Given the description of an element on the screen output the (x, y) to click on. 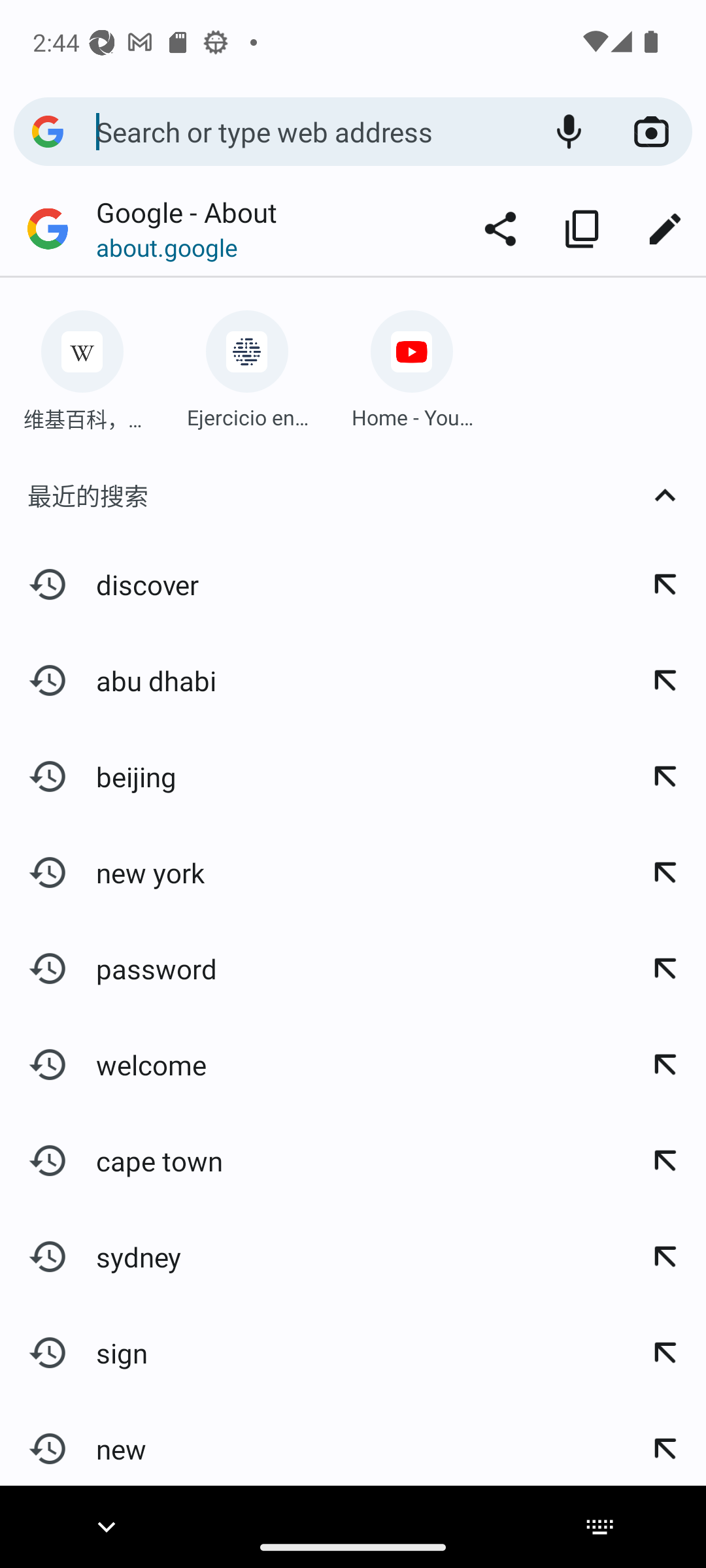
Start voice search (568, 131)
Search with your camera using Google Lens (650, 131)
Search or type web address (311, 131)
Google - About about.google (229, 228)
Share… (499, 228)
Copy link (582, 228)
Edit (664, 228)
维基百科，自由的百科全书: zh.m.wikipedia.org 维基百科，自由的百科全书 (82, 364)
Home - YouTube: m.youtube.com Home - YouTube (411, 364)
最近的搜索 (353, 495)
discover (311, 583)
Refine: discover (664, 583)
abu dhabi (311, 680)
Refine: abu dhabi (664, 680)
beijing (311, 776)
Refine: beijing (664, 776)
new york (311, 872)
Refine: new york (664, 872)
password (311, 968)
Refine: password (664, 968)
welcome (311, 1064)
Refine: welcome (664, 1064)
cape town (311, 1160)
Refine: cape town (664, 1160)
sydney (311, 1256)
Refine: sydney (664, 1256)
sign (311, 1352)
Refine: sign (664, 1352)
new (311, 1443)
Refine: new (664, 1443)
